Given the description of an element on the screen output the (x, y) to click on. 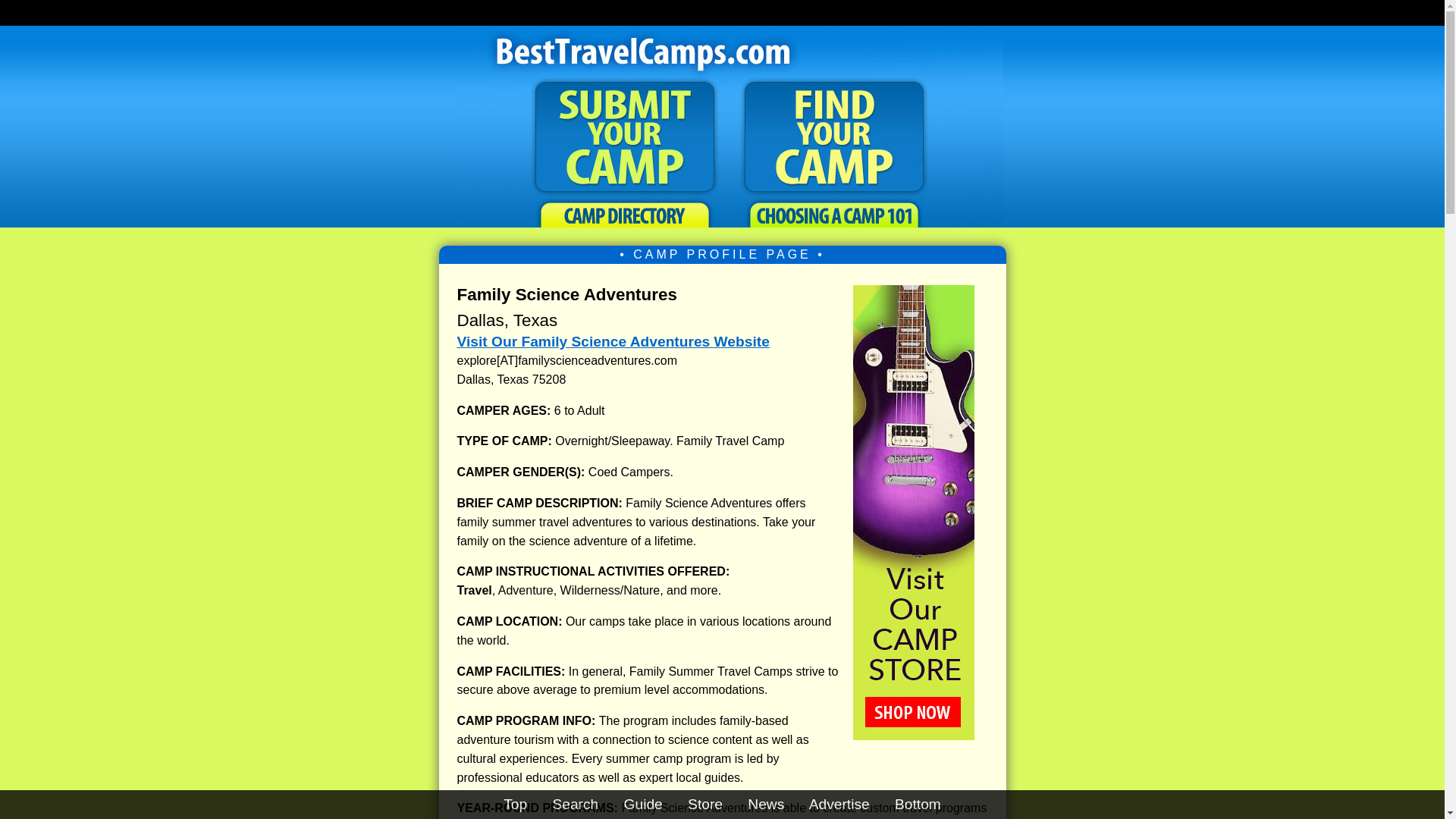
Visit Our Travel Camp Online Store (912, 734)
Family Science Adventures Website (612, 341)
Visit Our Family Science Adventures Website (612, 341)
